Given the description of an element on the screen output the (x, y) to click on. 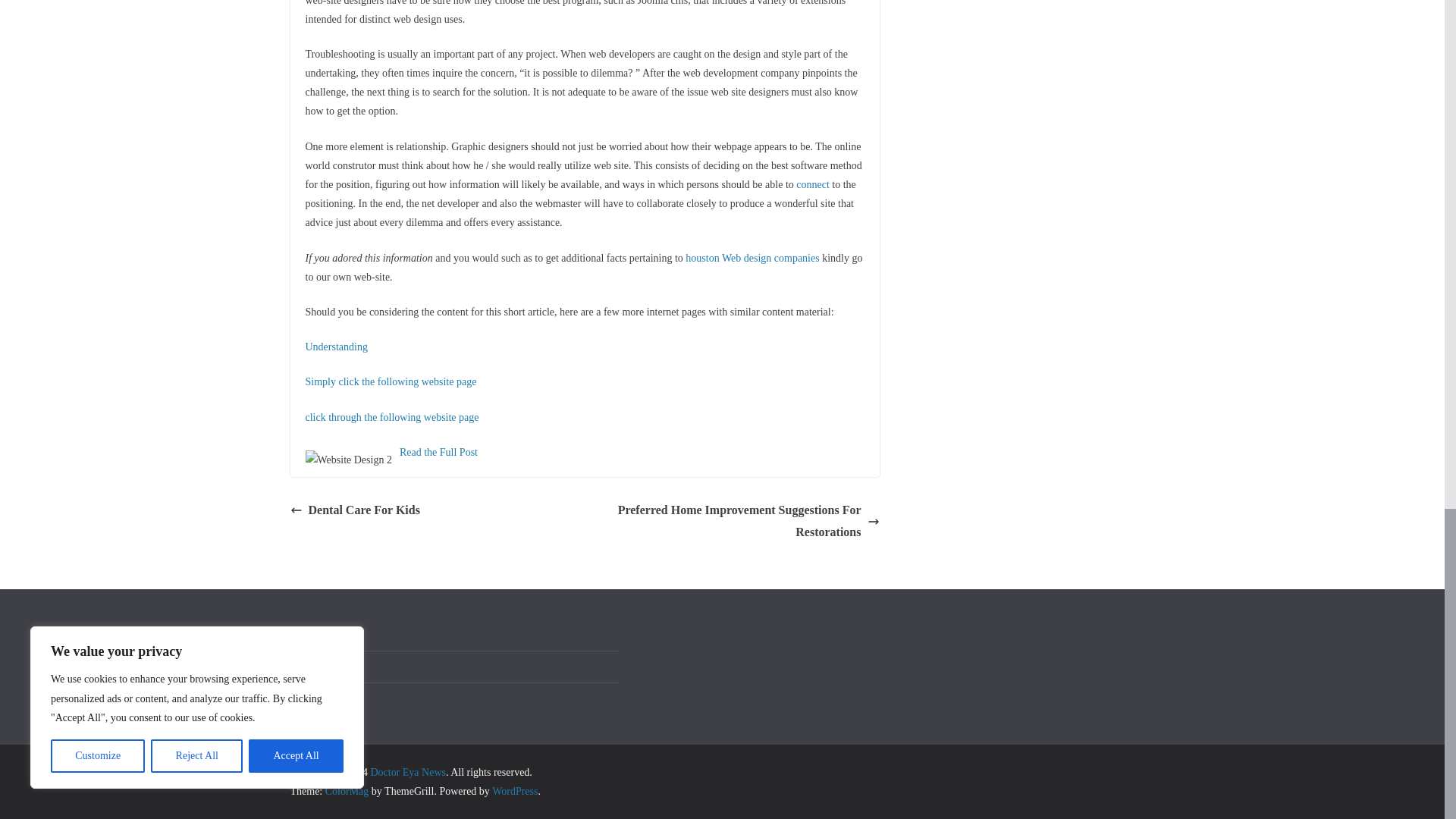
Doctor Eya News (407, 772)
Simply click the following website page (390, 381)
houston Web design companies (751, 257)
Read the Full Post (437, 451)
Dental Care For Kids (354, 510)
connect (812, 184)
ColorMag (346, 790)
WordPress (514, 790)
Understanding (335, 346)
click through the following website page (391, 417)
Preferred Home Improvement Suggestions For Restorations (735, 521)
